Given the description of an element on the screen output the (x, y) to click on. 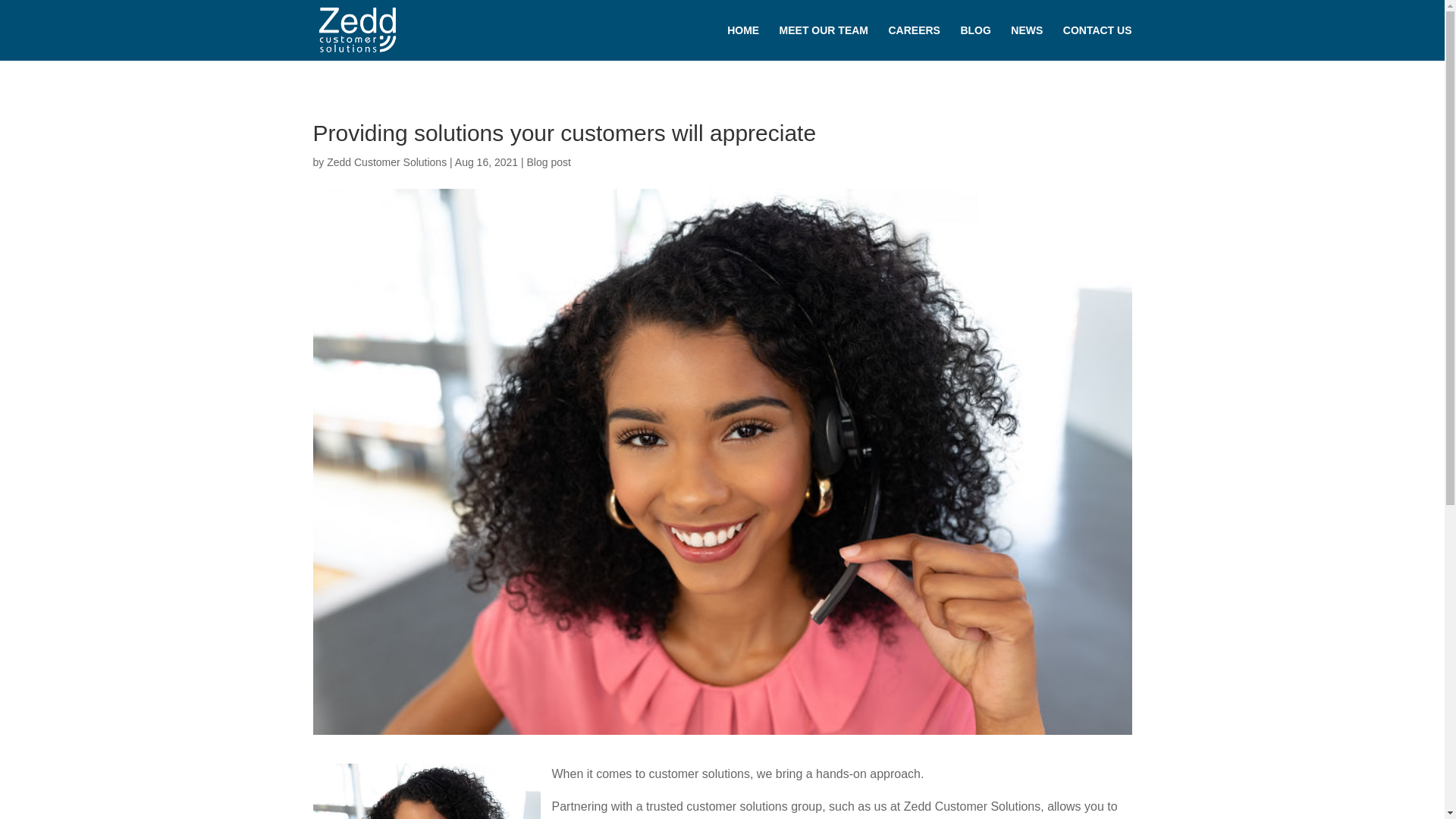
HOME (742, 42)
BLOG (974, 42)
NEWS (1026, 42)
Blog post (548, 162)
CAREERS (913, 42)
MEET OUR TEAM (822, 42)
Posts by Zedd Customer Solutions (386, 162)
CONTACT US (1097, 42)
Zedd Customer Solutions (386, 162)
